Given the description of an element on the screen output the (x, y) to click on. 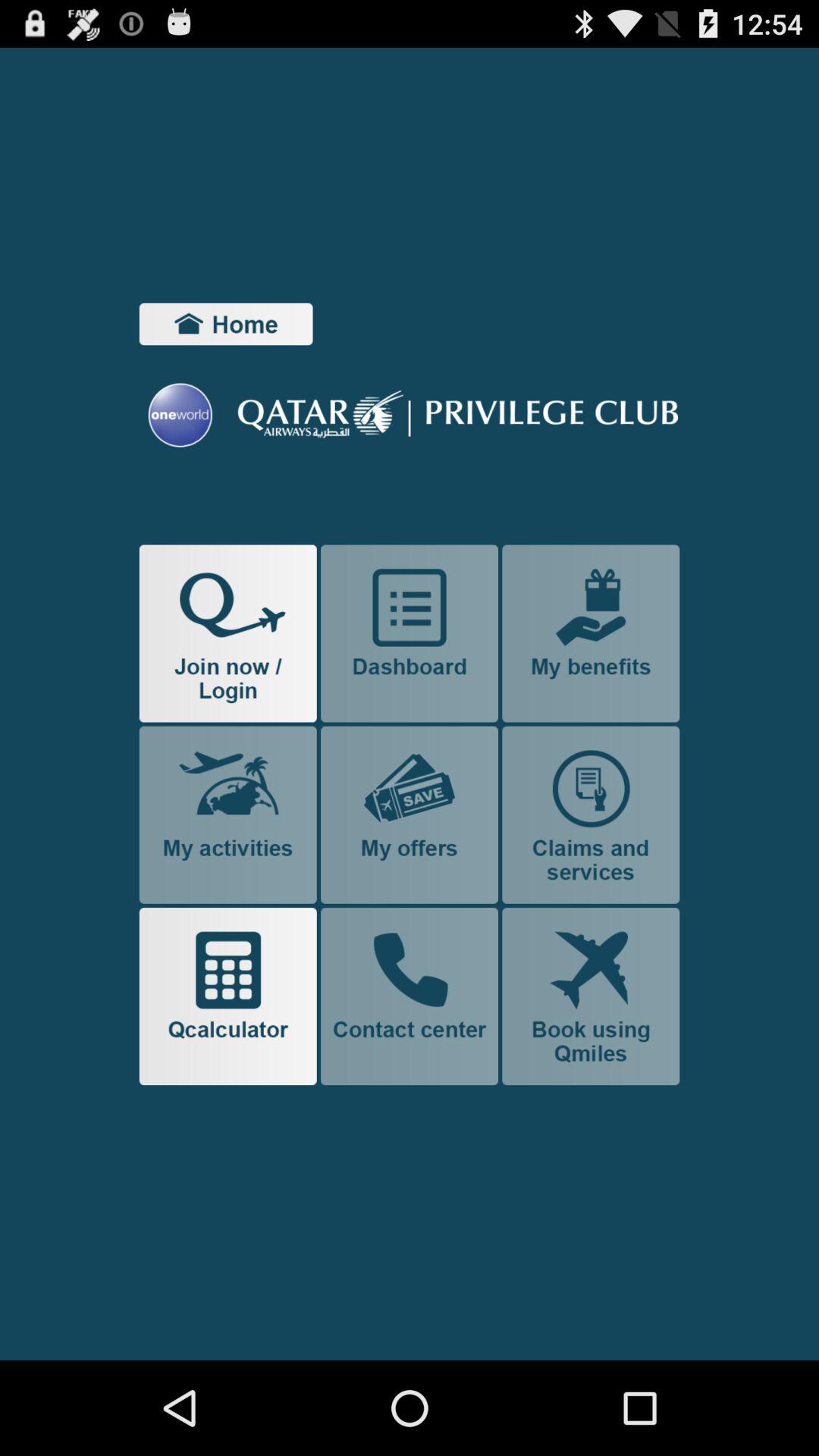
register or login (227, 633)
